Given the description of an element on the screen output the (x, y) to click on. 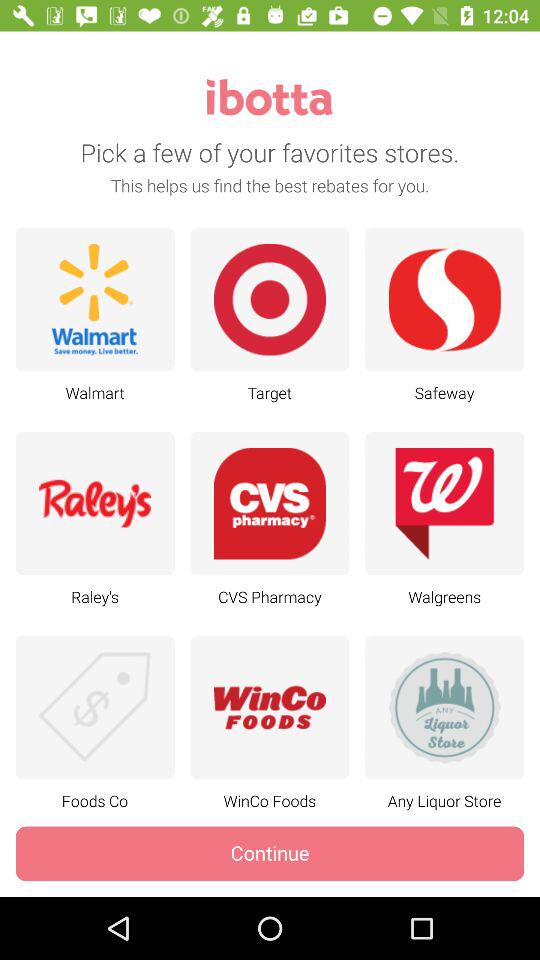
scroll until continue (269, 853)
